Given the description of an element on the screen output the (x, y) to click on. 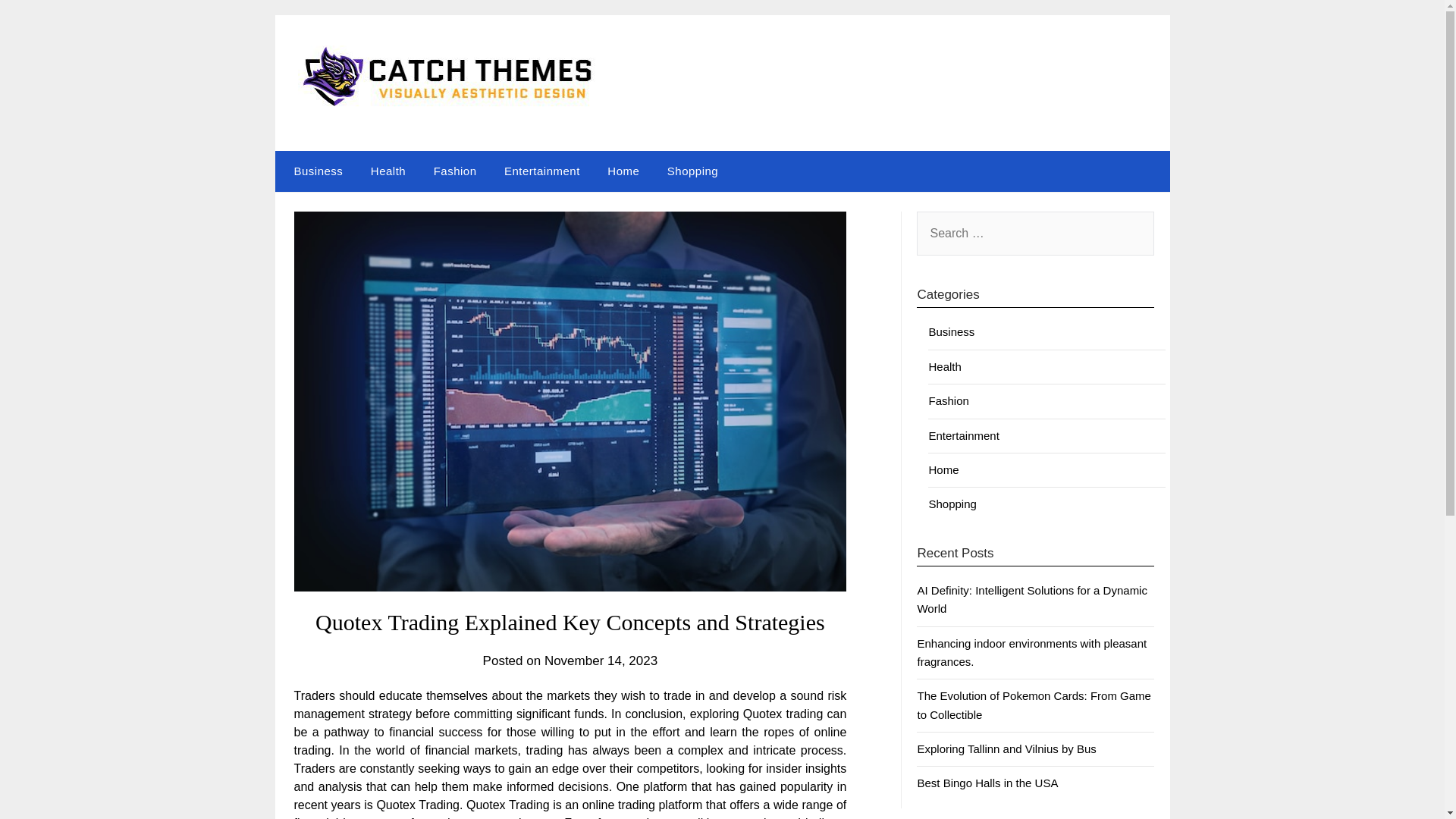
Fashion (455, 170)
Search (38, 22)
Business (951, 331)
Entertainment (542, 170)
Health (387, 170)
Shopping (692, 170)
Health (944, 366)
The Evolution of Pokemon Cards: From Game to Collectible (1033, 704)
Shopping (951, 503)
Best Bingo Halls in the USA (987, 782)
Fashion (948, 400)
Entertainment (963, 435)
Home (622, 170)
AI Definity: Intelligent Solutions for a Dynamic World (1032, 599)
Home (943, 469)
